Given the description of an element on the screen output the (x, y) to click on. 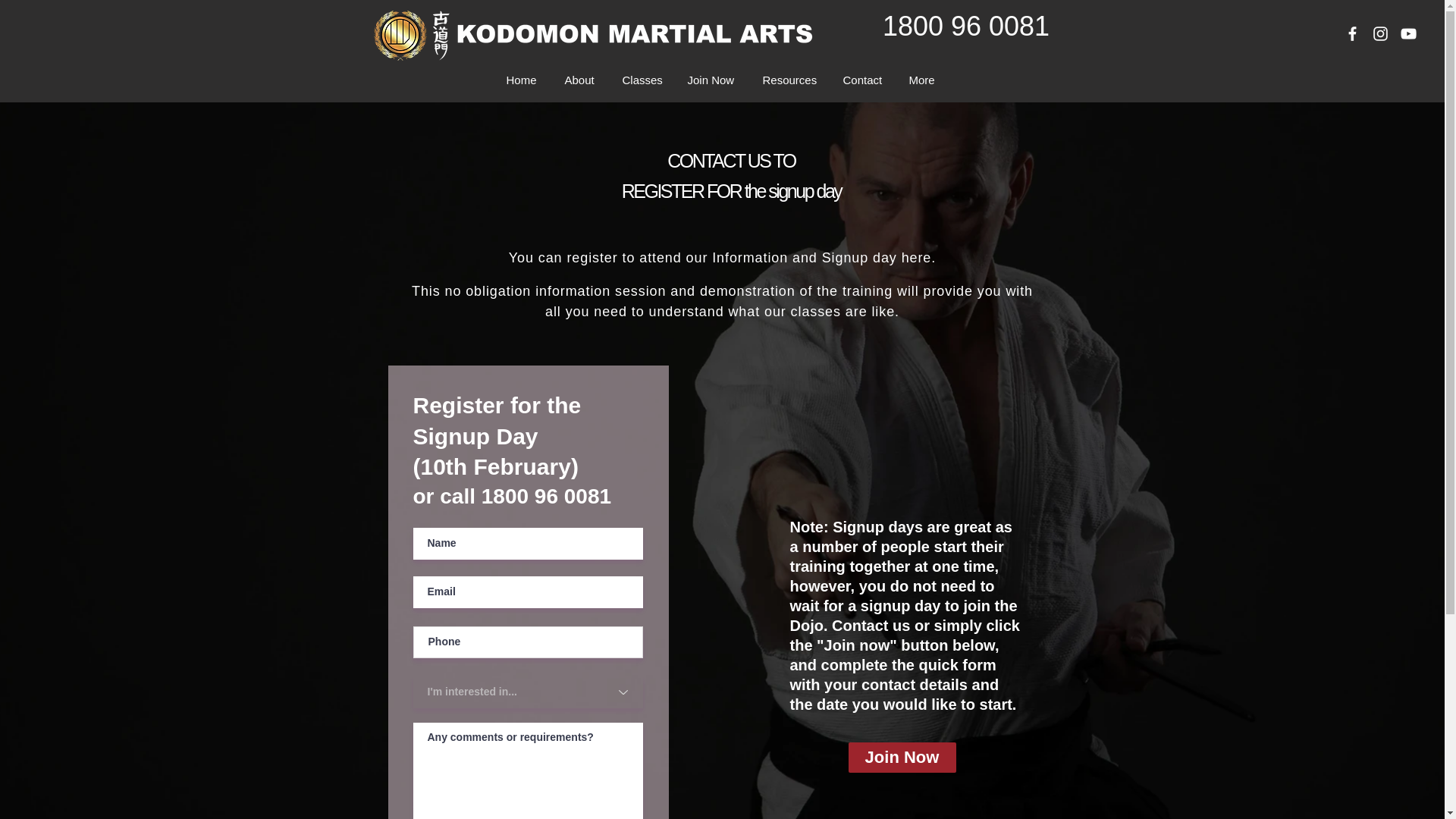
Join Now (901, 757)
Join Now (714, 80)
Home (524, 80)
Contact (863, 80)
1800 96 0081 (965, 25)
Resources (791, 80)
Classes (644, 80)
About (582, 80)
